Given the description of an element on the screen output the (x, y) to click on. 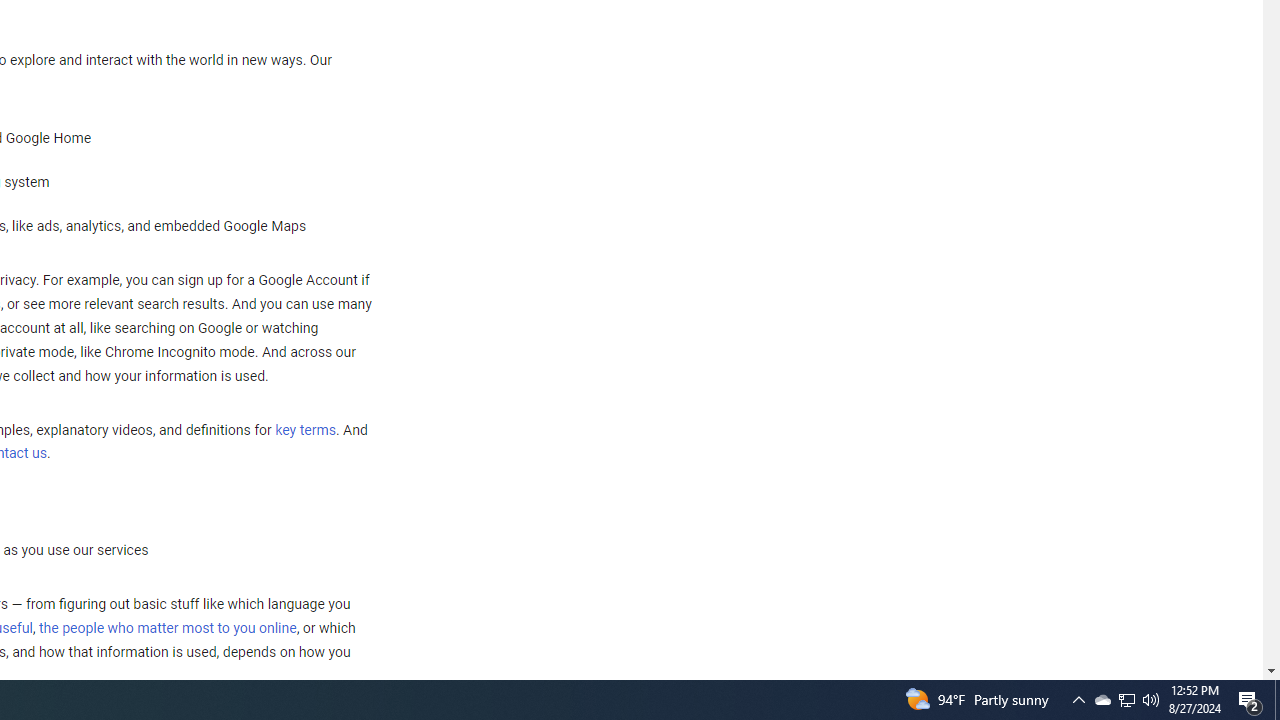
the people who matter most to you online (167, 628)
key terms (305, 430)
